Given the description of an element on the screen output the (x, y) to click on. 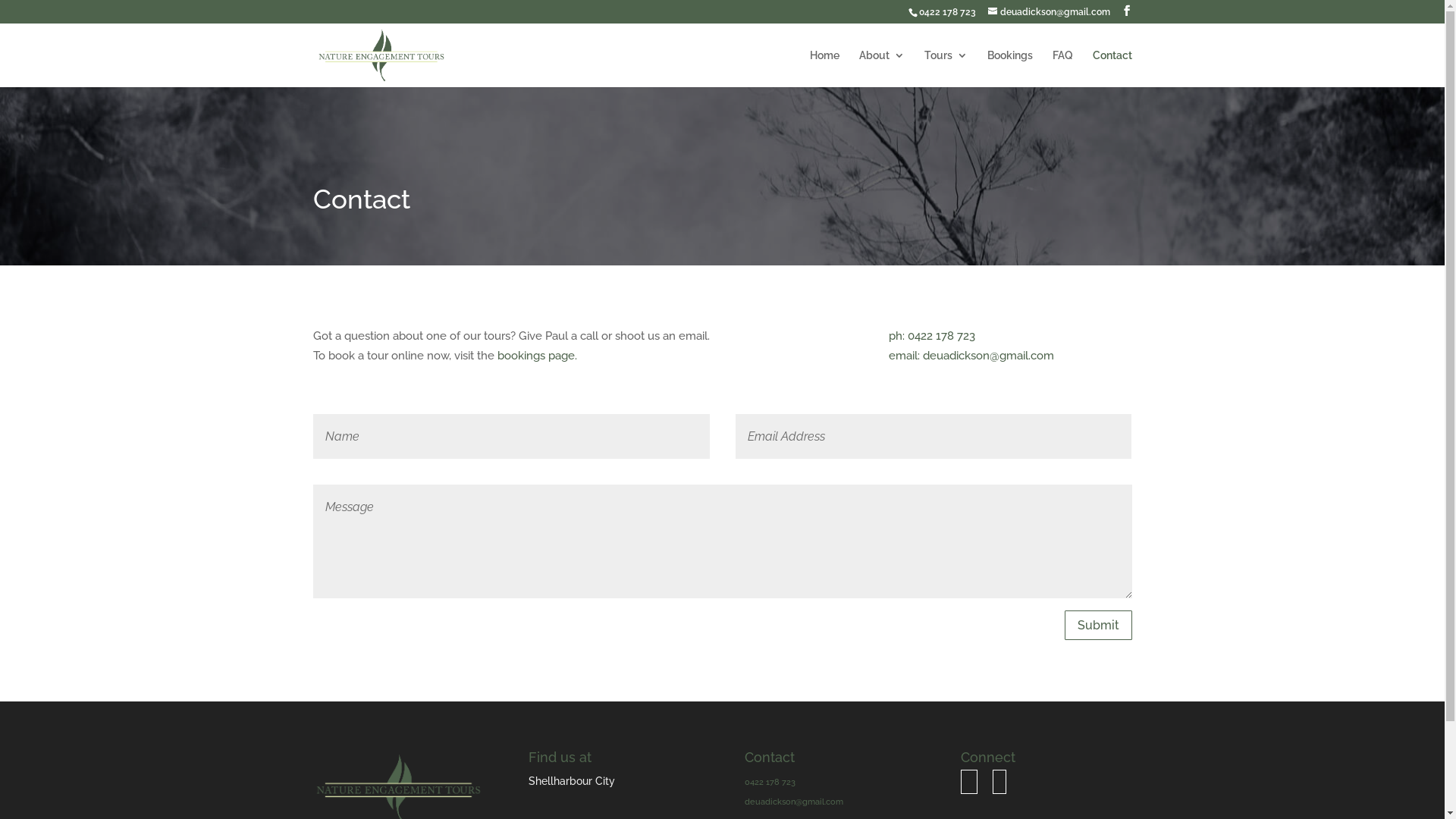
ph: 0422 178 723 Element type: text (931, 335)
Submit Element type: text (1098, 625)
Contact Element type: text (1111, 68)
deuadickson@gmail.com Element type: text (793, 801)
bookings page. Element type: text (535, 355)
Bookings Element type: text (1009, 68)
Home Element type: text (824, 68)
deuadickson@gmail.com Element type: text (1048, 11)
0422 178 723 Element type: text (947, 11)
Tours Element type: text (944, 68)
FAQ Element type: text (1062, 68)
About Element type: text (880, 68)
email: deuadickson@gmail.com Element type: text (971, 355)
0422 178 723 Element type: text (769, 782)
